Given the description of an element on the screen output the (x, y) to click on. 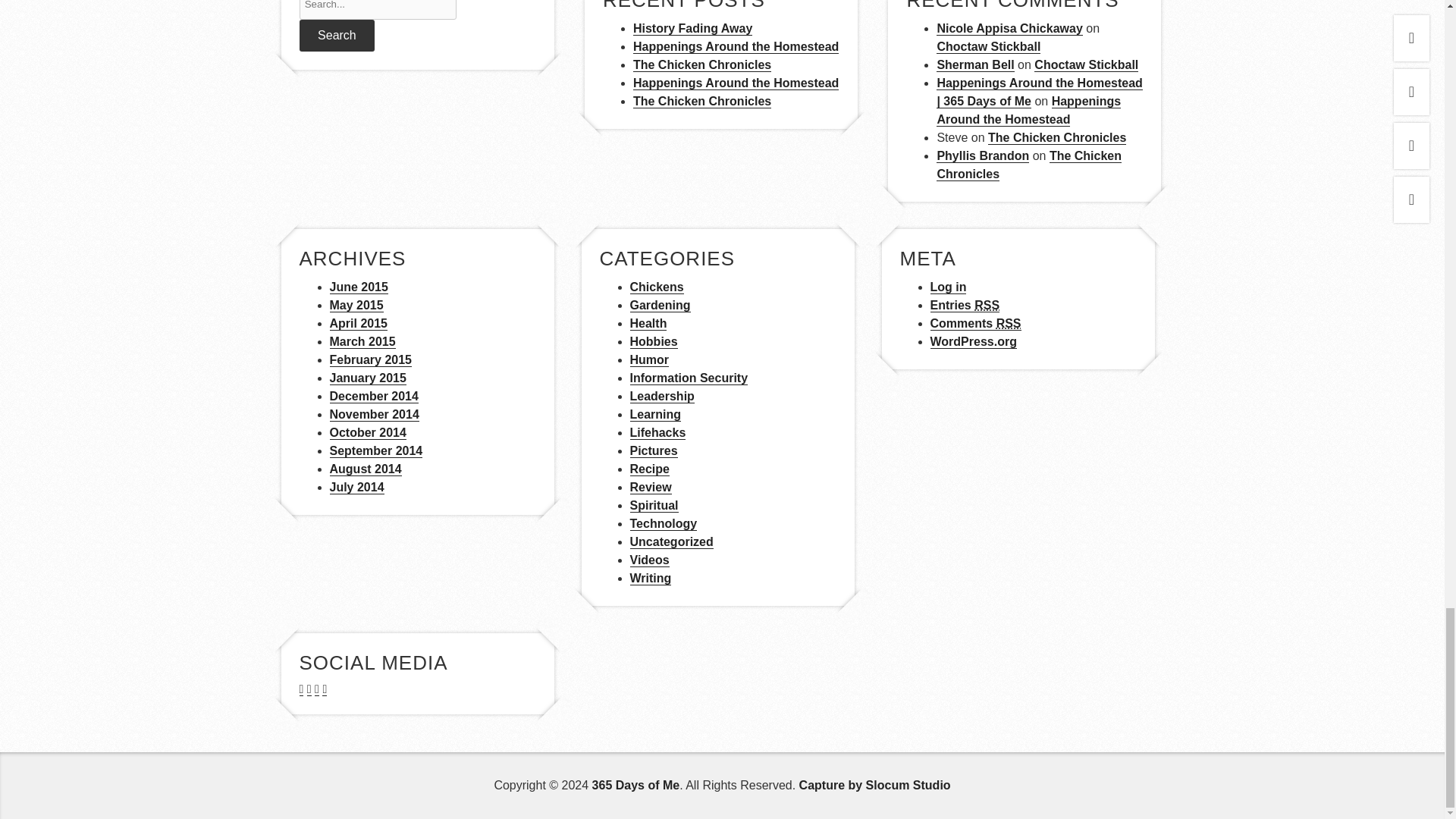
The Chicken Chronicles (702, 101)
Nicole Appisa Chickaway (1008, 29)
Really Simple Syndication (1008, 323)
The Chicken Chronicles (702, 65)
Happenings Around the Homestead (735, 83)
History Fading Away (692, 29)
Choctaw Stickball (1085, 65)
Choctaw Stickball (988, 47)
Happenings Around the Homestead (735, 47)
